Given the description of an element on the screen output the (x, y) to click on. 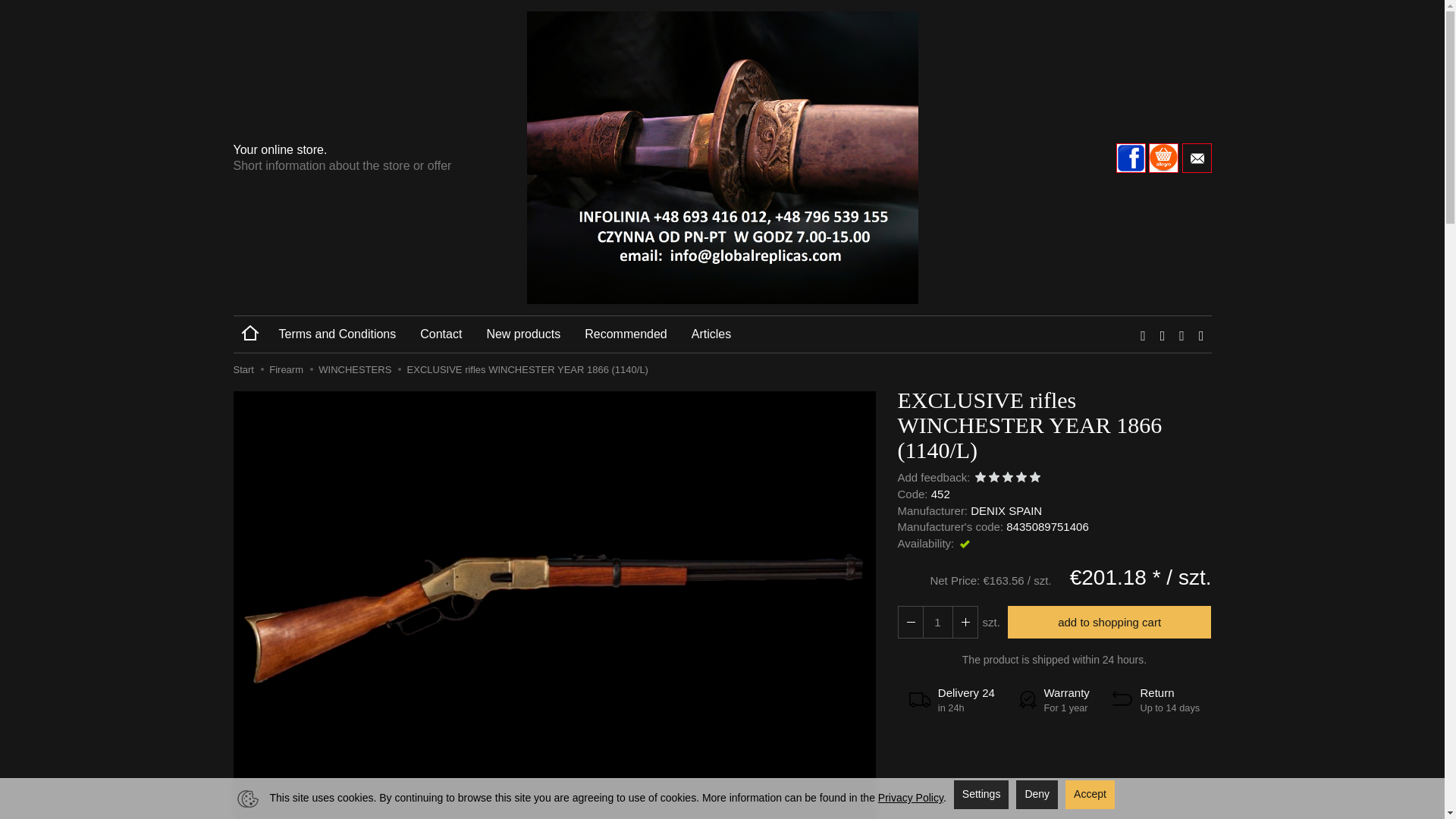
1 (980, 478)
2 (994, 478)
1 (936, 622)
4 (1020, 478)
3 (1007, 478)
5 (1034, 478)
